Given the description of an element on the screen output the (x, y) to click on. 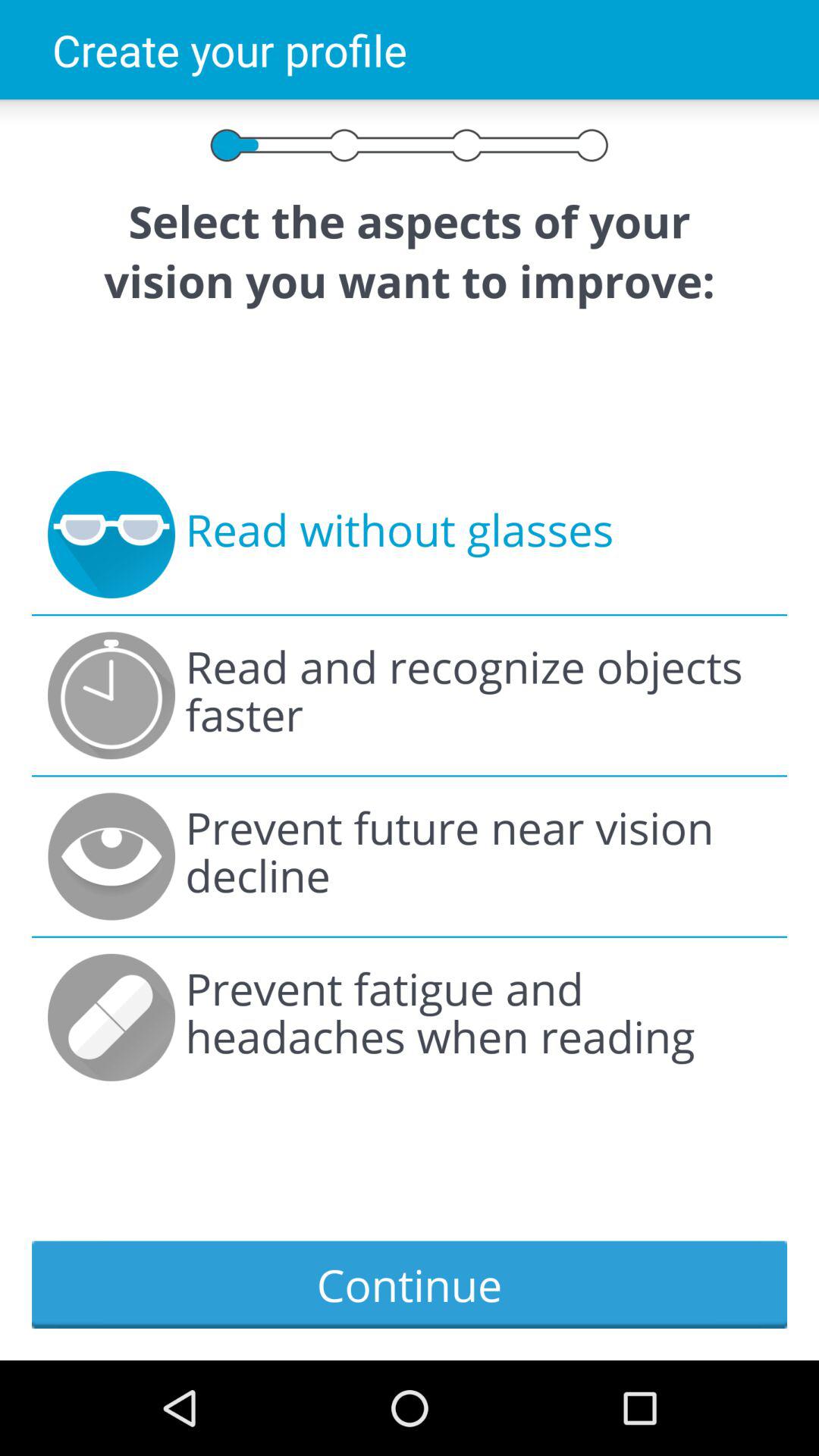
scroll until the prevent fatigue and item (478, 1017)
